Given the description of an element on the screen output the (x, y) to click on. 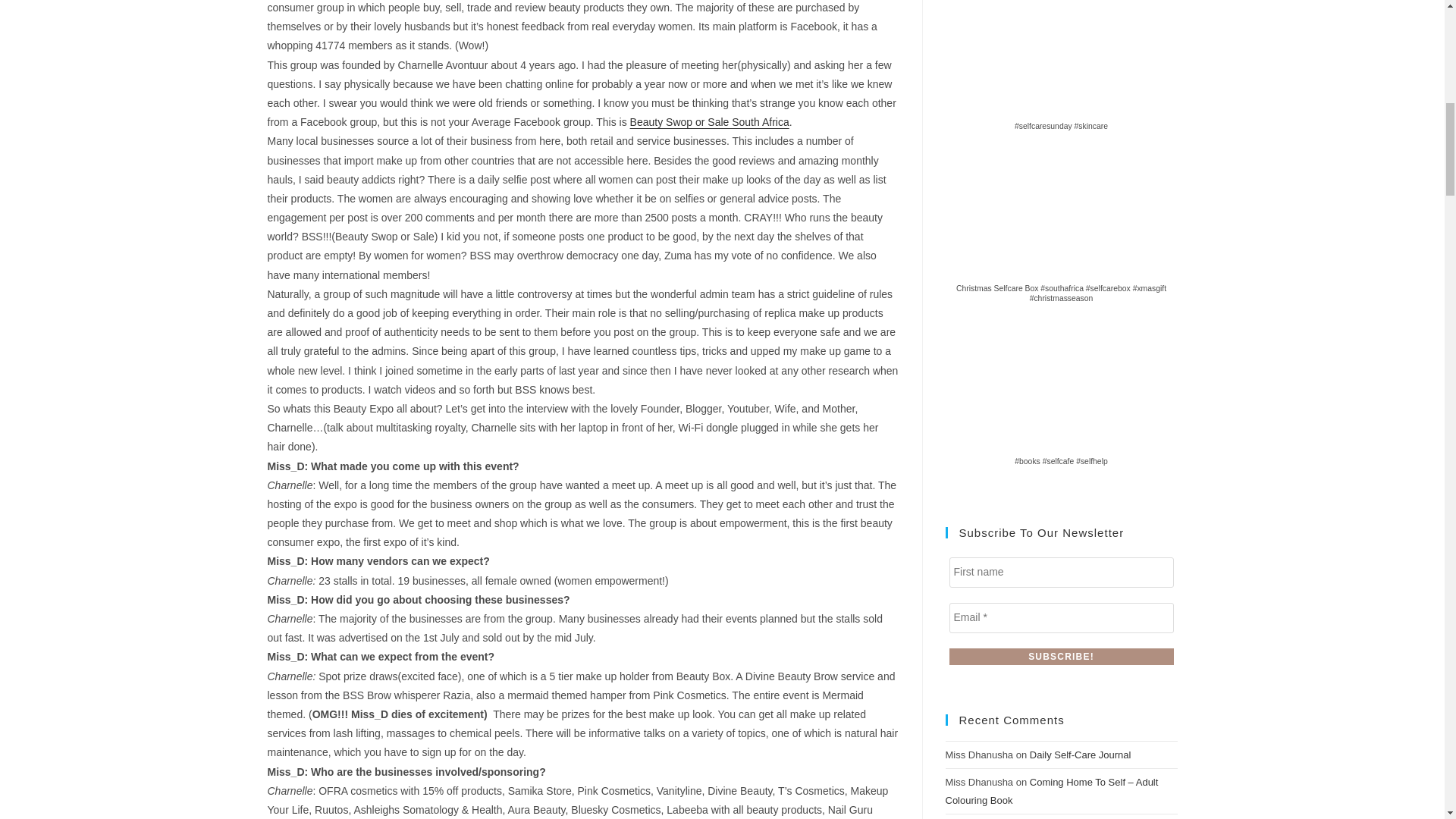
First name (1061, 572)
Subscribe! (1061, 656)
Email (1061, 617)
